Given the description of an element on the screen output the (x, y) to click on. 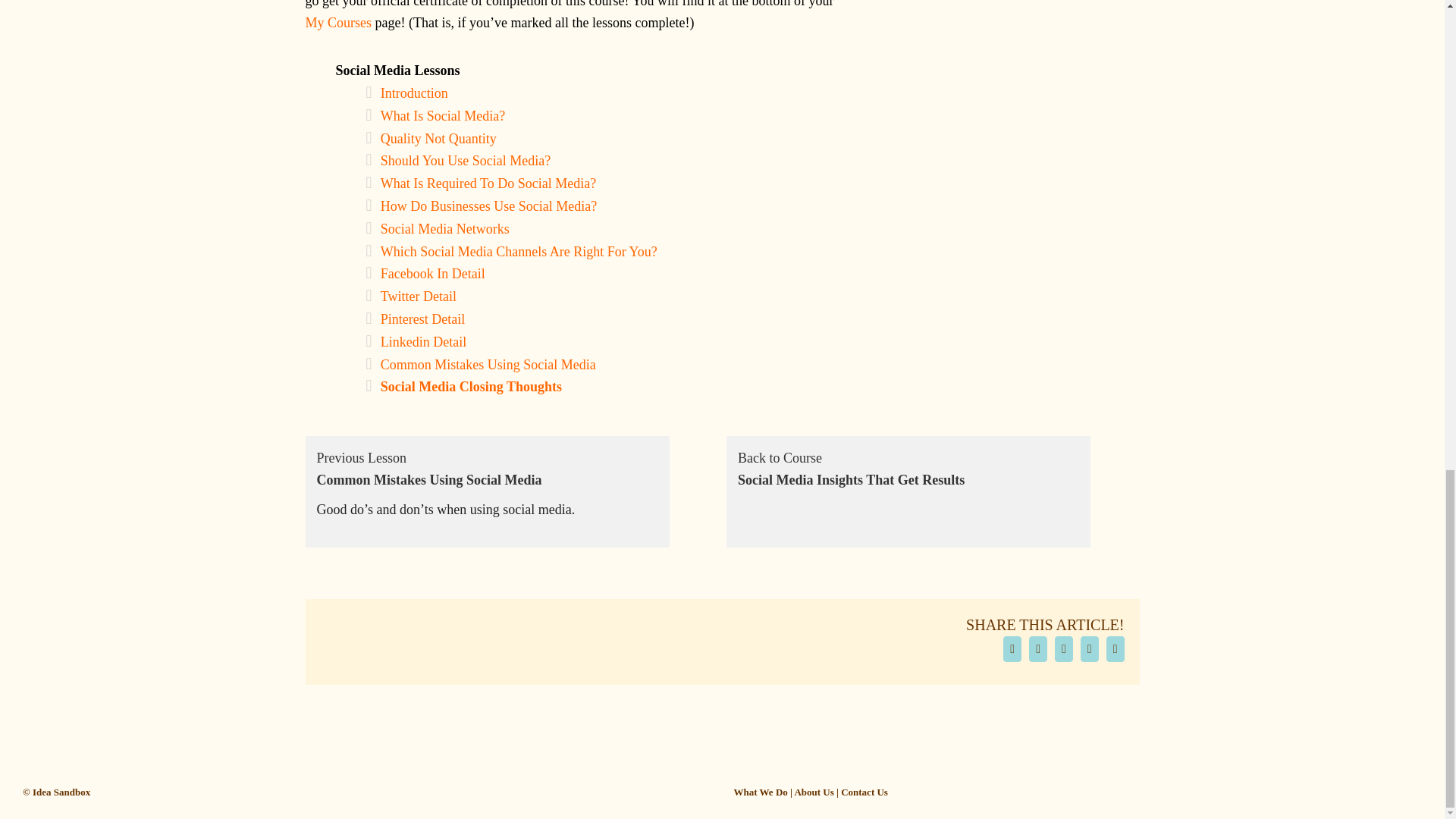
What Is Required To Do Social Media? (487, 183)
Quality Not Quantity (438, 138)
What Is Social Media? (442, 115)
Introduction (414, 92)
Should You Use Social Media? (465, 160)
My Courses (337, 22)
